Given the description of an element on the screen output the (x, y) to click on. 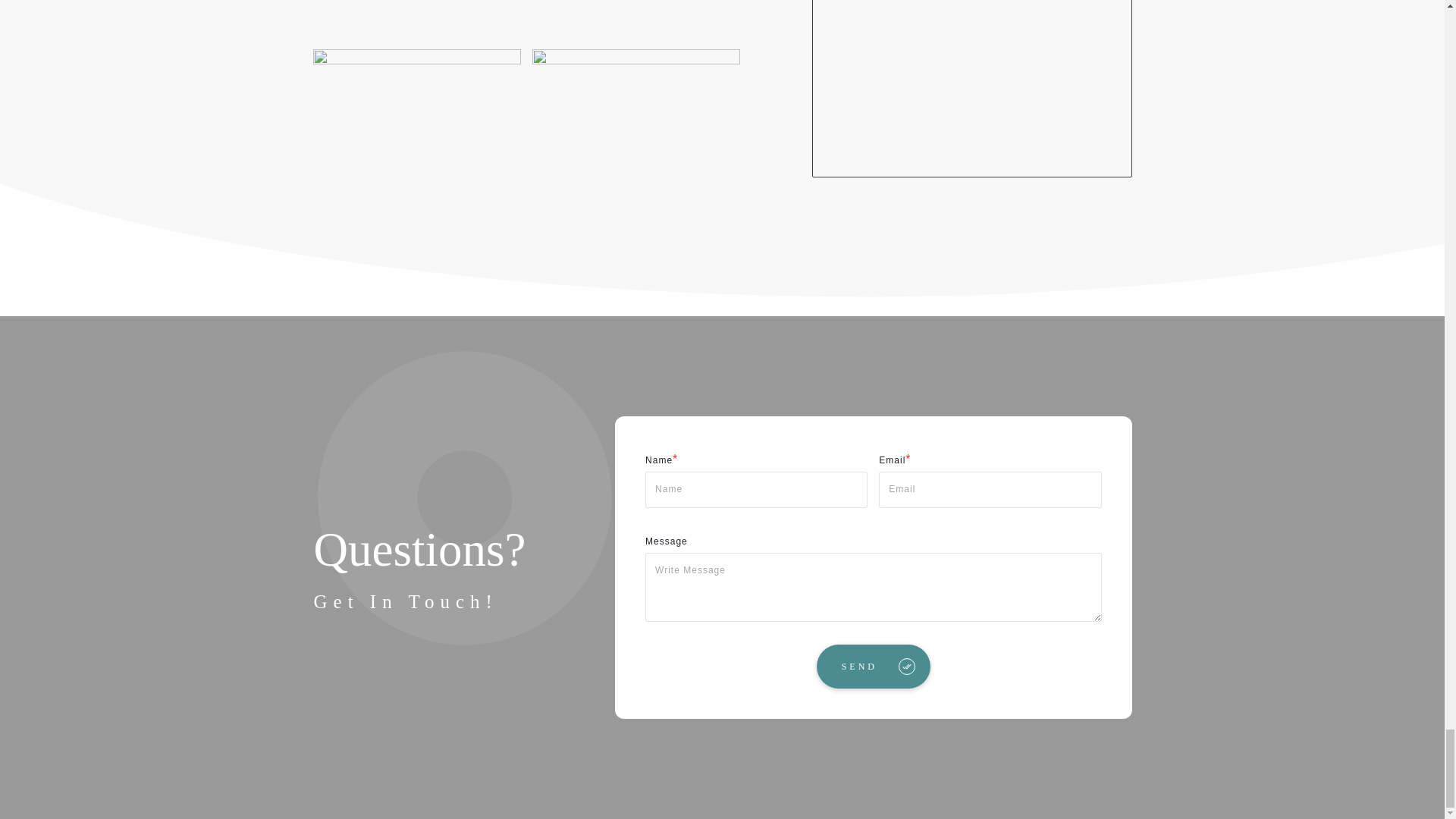
App-store-download-300x91 (635, 80)
SEND (873, 666)
Android-Play-300x91 (416, 80)
